Given the description of an element on the screen output the (x, y) to click on. 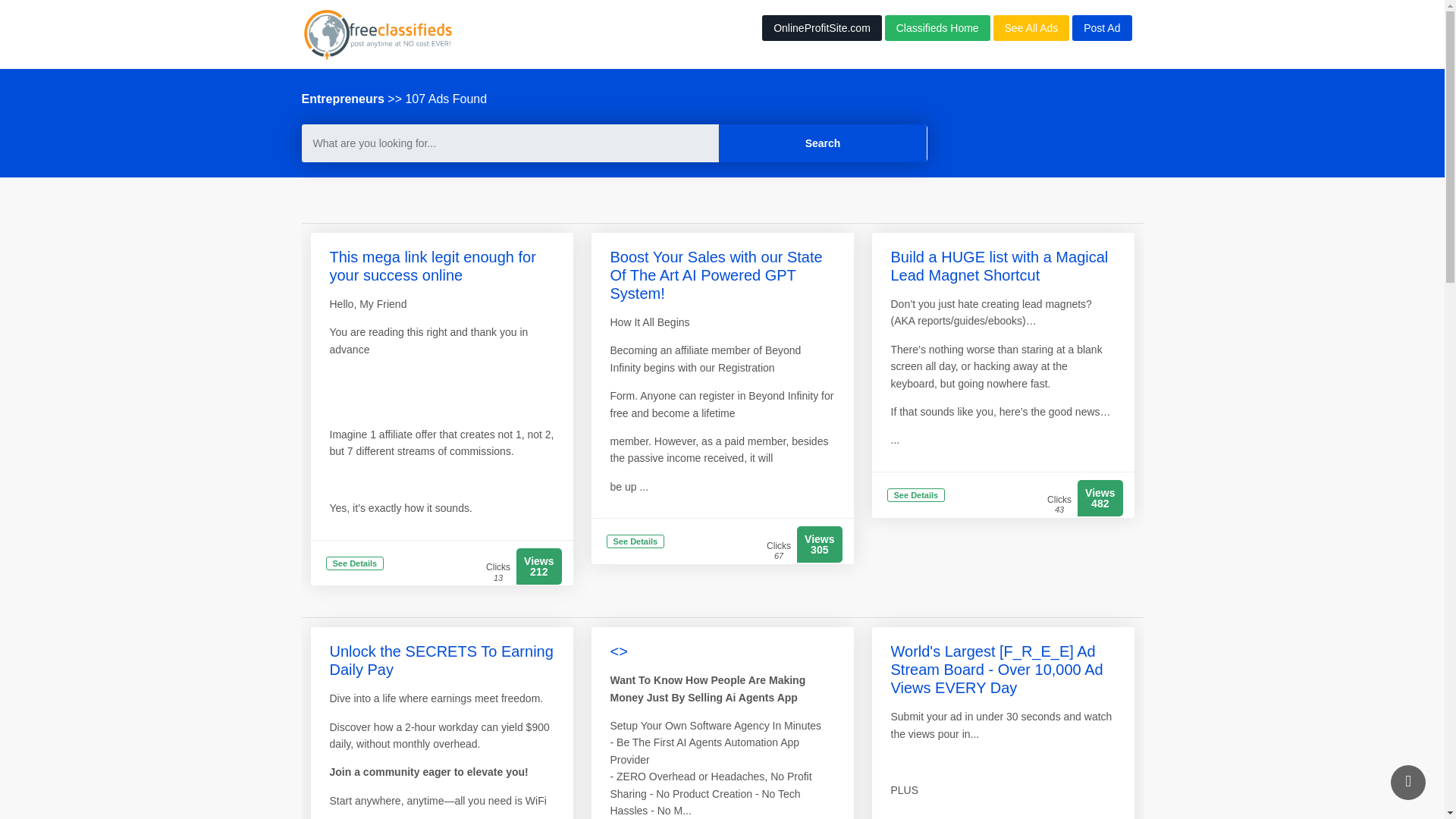
OnlineProfitSite.com (821, 27)
Entrepreneurs (342, 98)
See Details (636, 542)
See Details (355, 564)
See All Ads (1031, 27)
Unlock the SECRETS To Earning Daily Pay (441, 660)
Search (823, 143)
Classifieds Home (937, 27)
Post Ad (1101, 27)
Search (823, 143)
Build a HUGE list with a Magical Lead Magnet Shortcut (998, 265)
This mega link legit enough for your success online (432, 265)
See Details (915, 496)
